Given the description of an element on the screen output the (x, y) to click on. 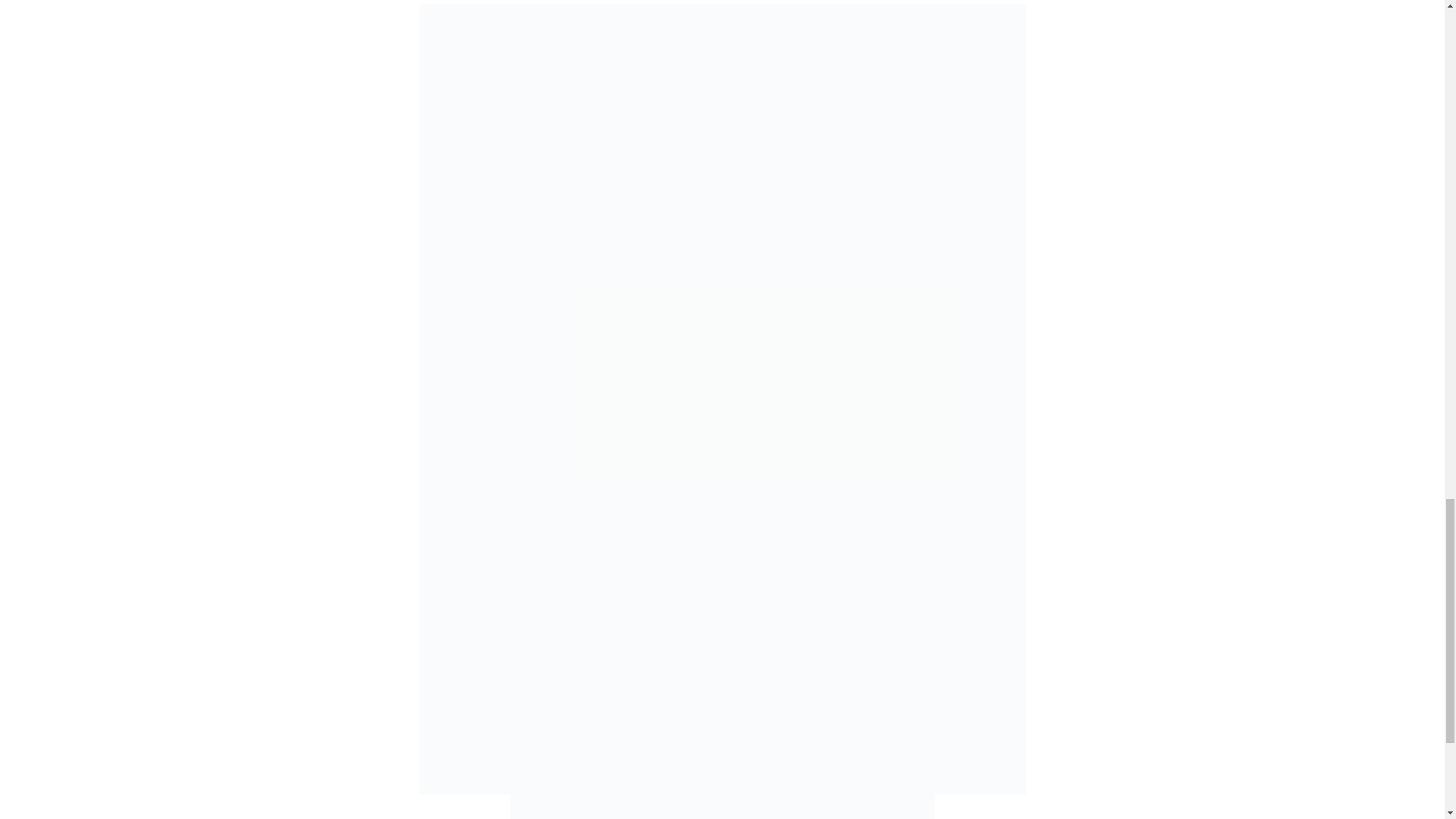
merch - PROGRESS Wrestling - Watch on Demand PROGRESS PLUS (721, 806)
